Given the description of an element on the screen output the (x, y) to click on. 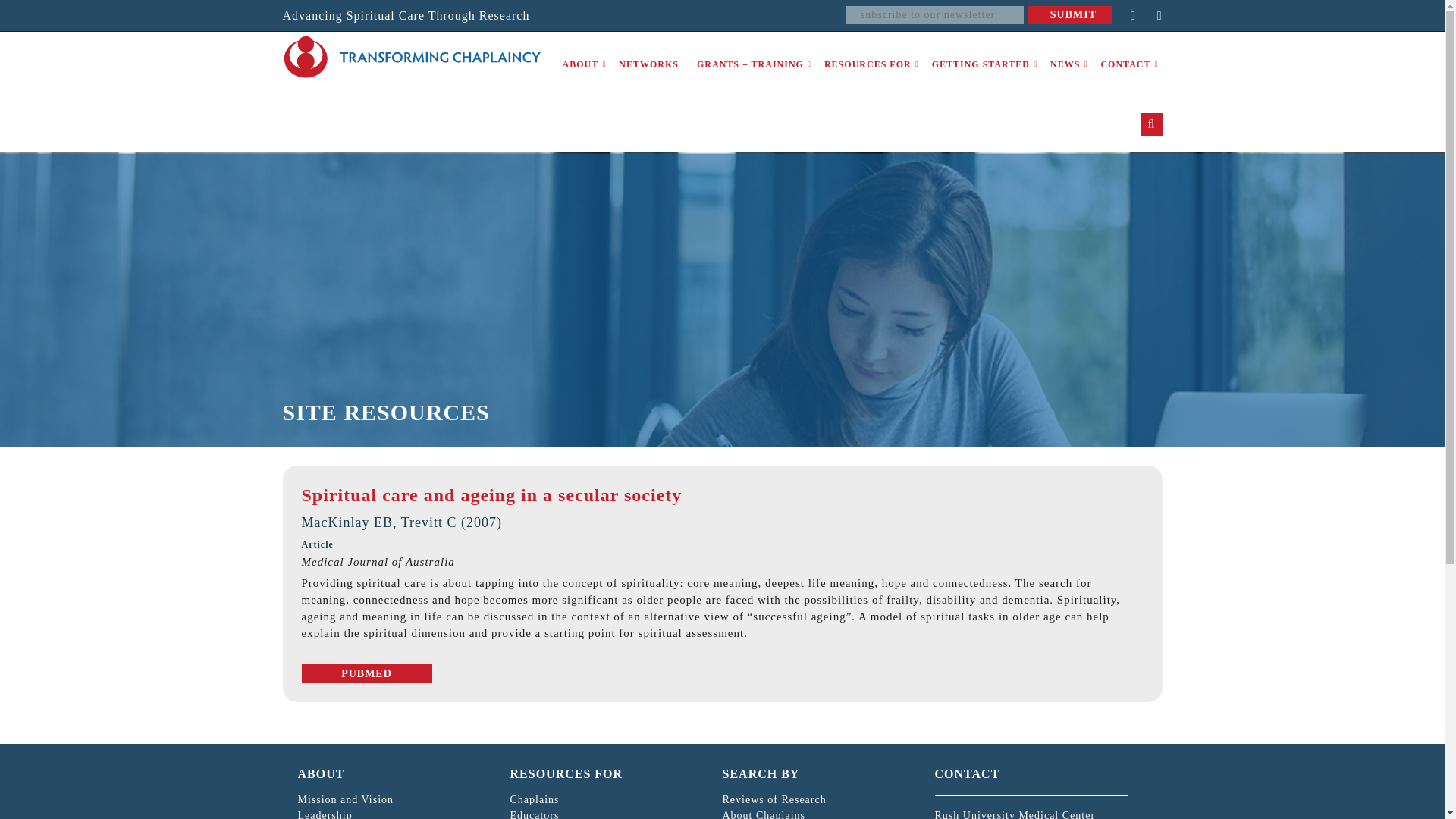
Submit (1069, 14)
RESOURCES FOR (868, 65)
NETWORKS (648, 65)
GETTING STARTED (981, 65)
Transforming Chaplaincy (411, 56)
Submit (1069, 14)
